Given the description of an element on the screen output the (x, y) to click on. 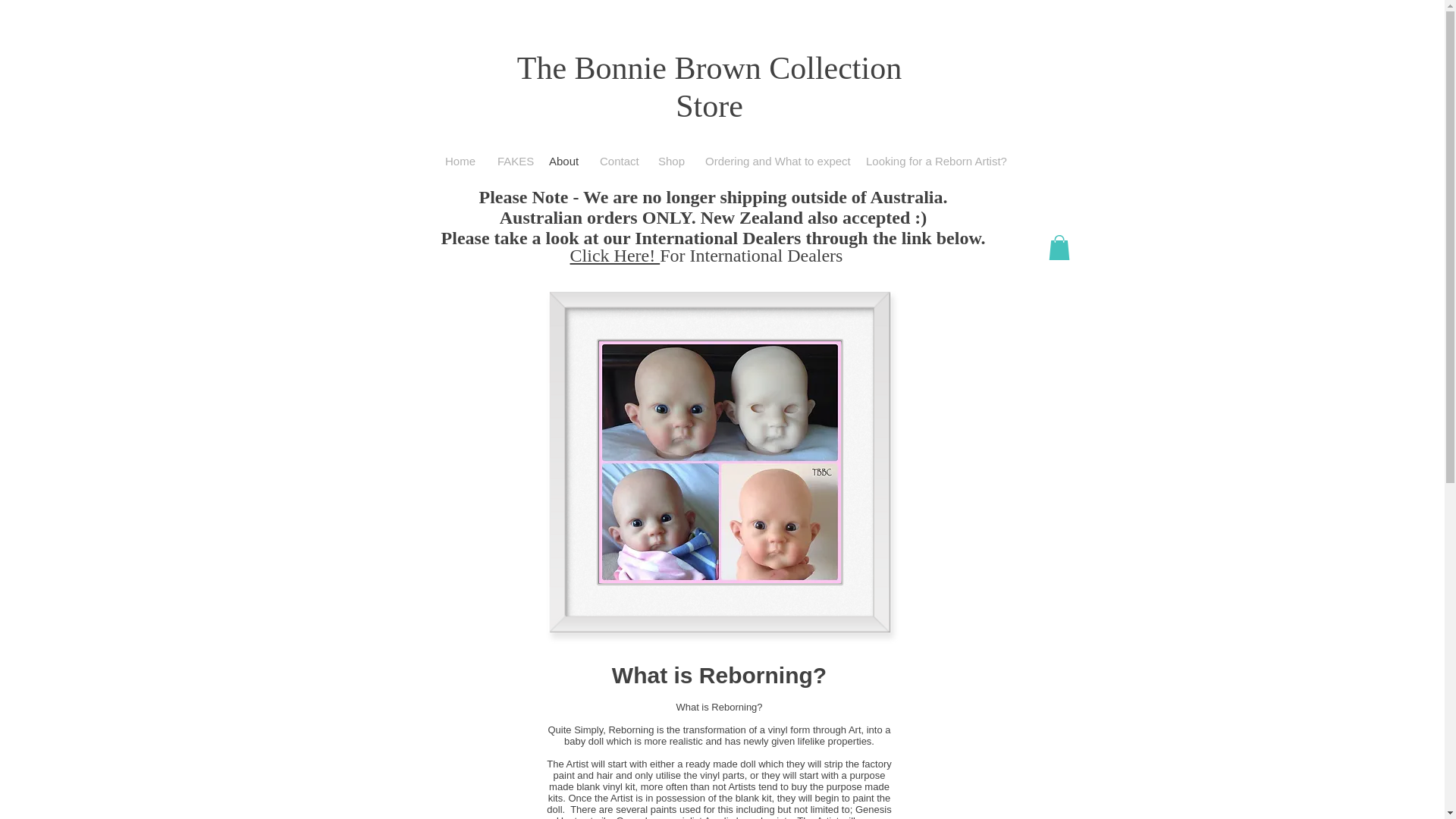
Contact (617, 161)
Looking for a Reborn Artist? (932, 161)
Ordering and What to expect (774, 161)
Home (459, 161)
The Bonnie Brown Collection (708, 67)
Click Here! (615, 255)
About (562, 161)
FAKES (511, 161)
Shop (670, 161)
